Given the description of an element on the screen output the (x, y) to click on. 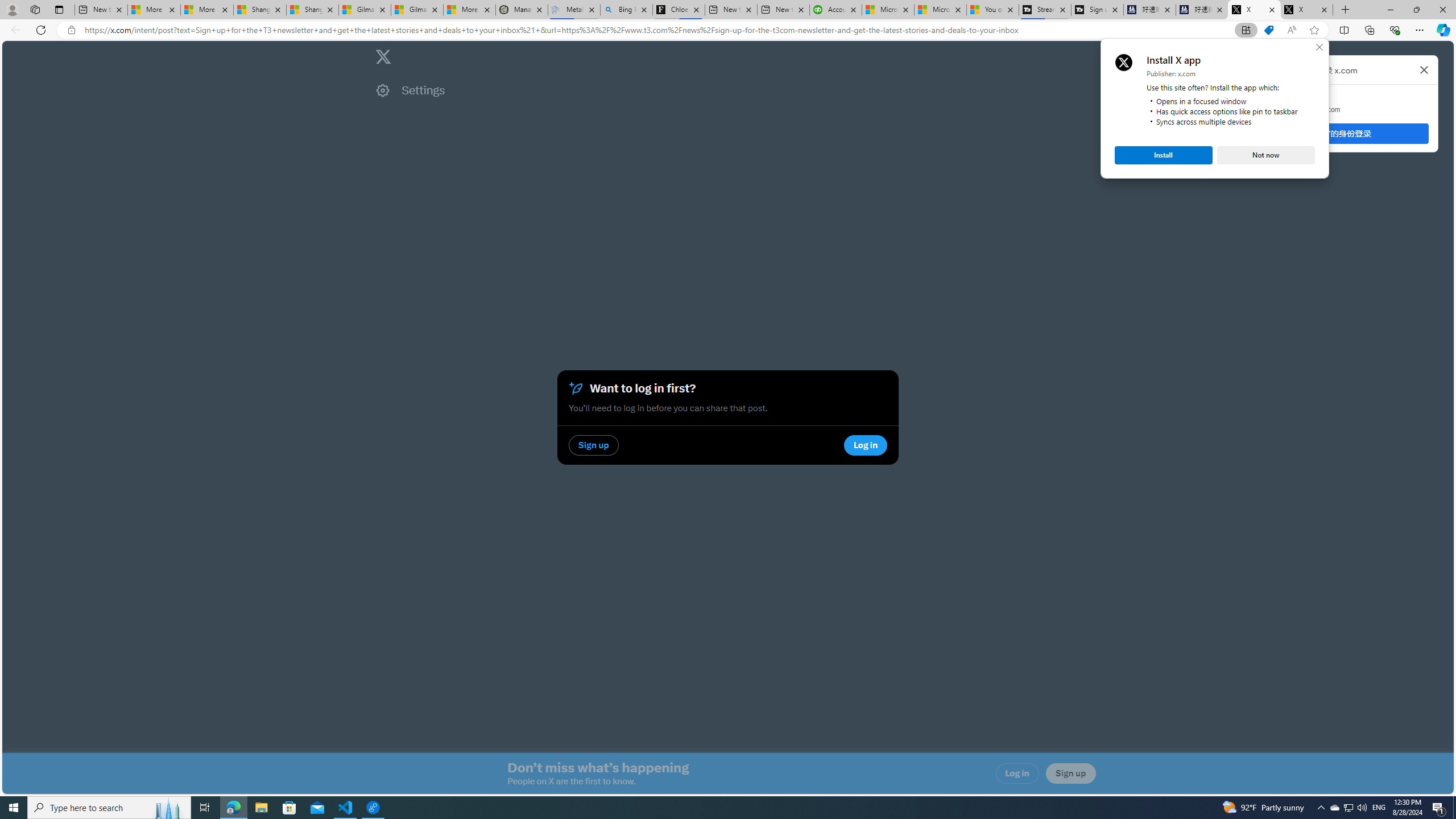
User Promoted Notification Area (1347, 807)
File Explorer (261, 807)
Browser essentials (1394, 29)
X (1306, 9)
Show desktop (1454, 807)
Shanghai, China weather forecast | Microsoft Weather (312, 9)
Tab actions menu (58, 9)
Bing Real Estate - Home sales and rental listings (626, 9)
Notification Chevron (1320, 807)
Back (13, 29)
Start (13, 807)
Class: Bz112c Bz112c-r9oPif (1423, 69)
